Given the description of an element on the screen output the (x, y) to click on. 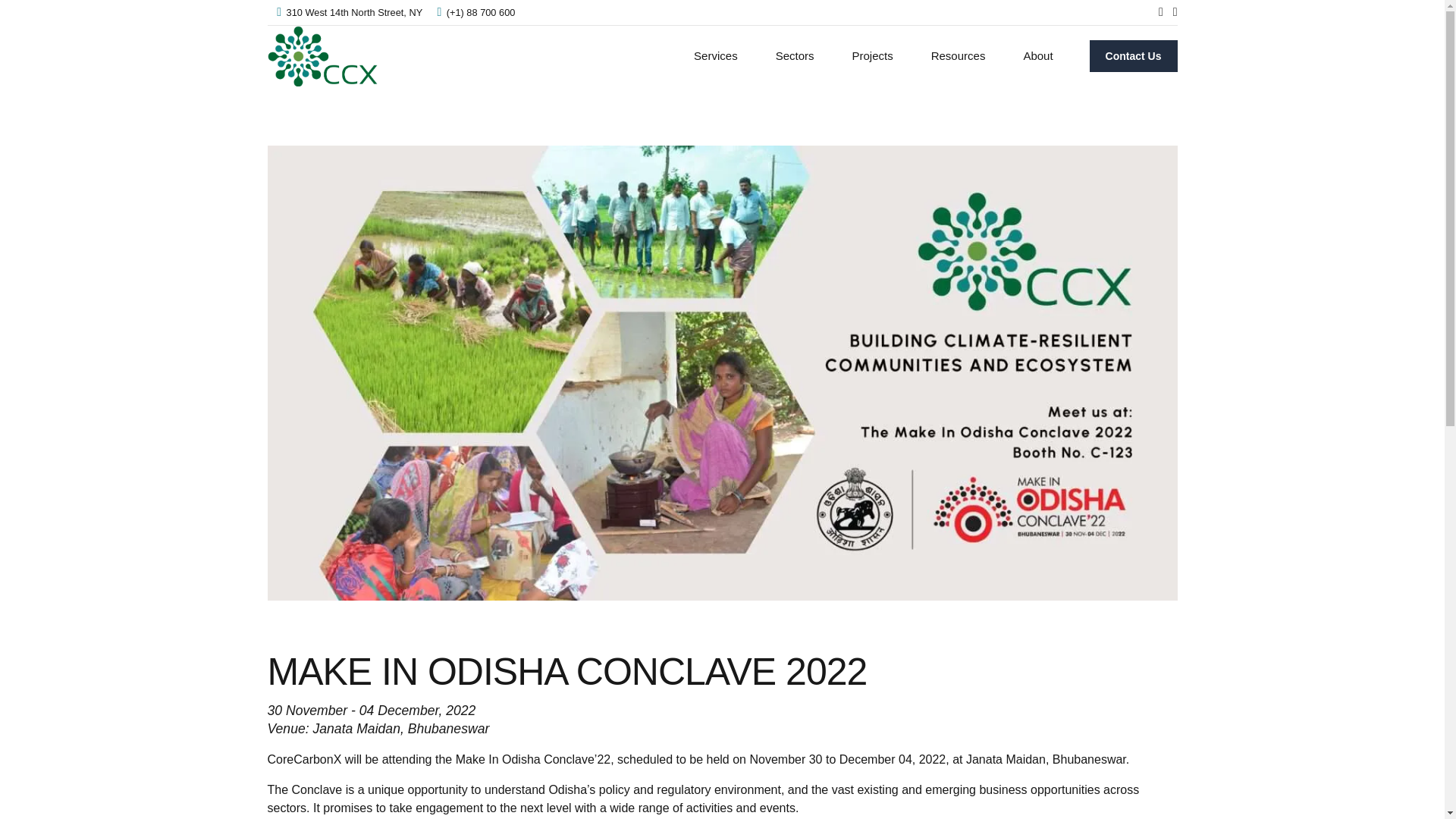
CoreCarbonX (321, 55)
Resources (958, 55)
Services (715, 55)
Sectors (794, 55)
Contact Us (1133, 56)
Projects (872, 55)
